Given the description of an element on the screen output the (x, y) to click on. 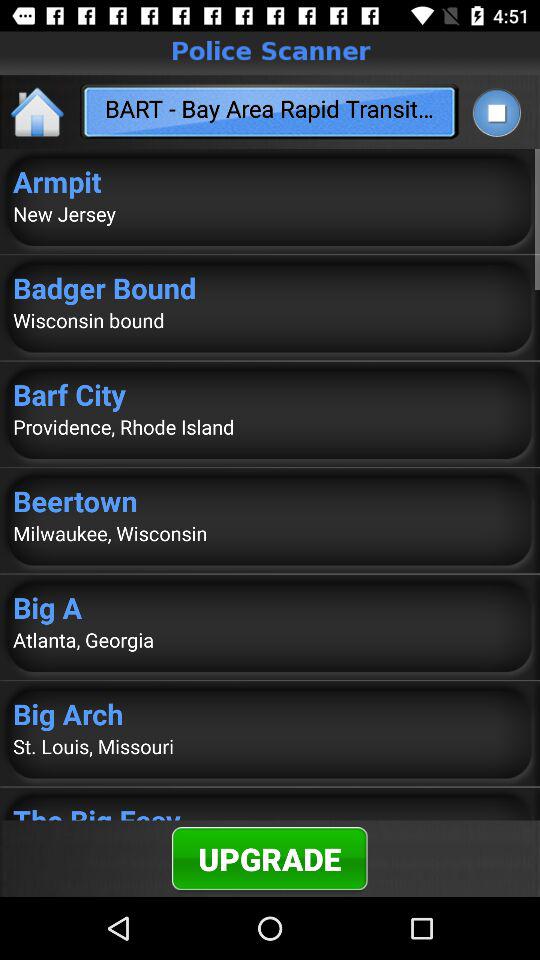
turn on icon to the right of the bart bay area item (496, 111)
